Given the description of an element on the screen output the (x, y) to click on. 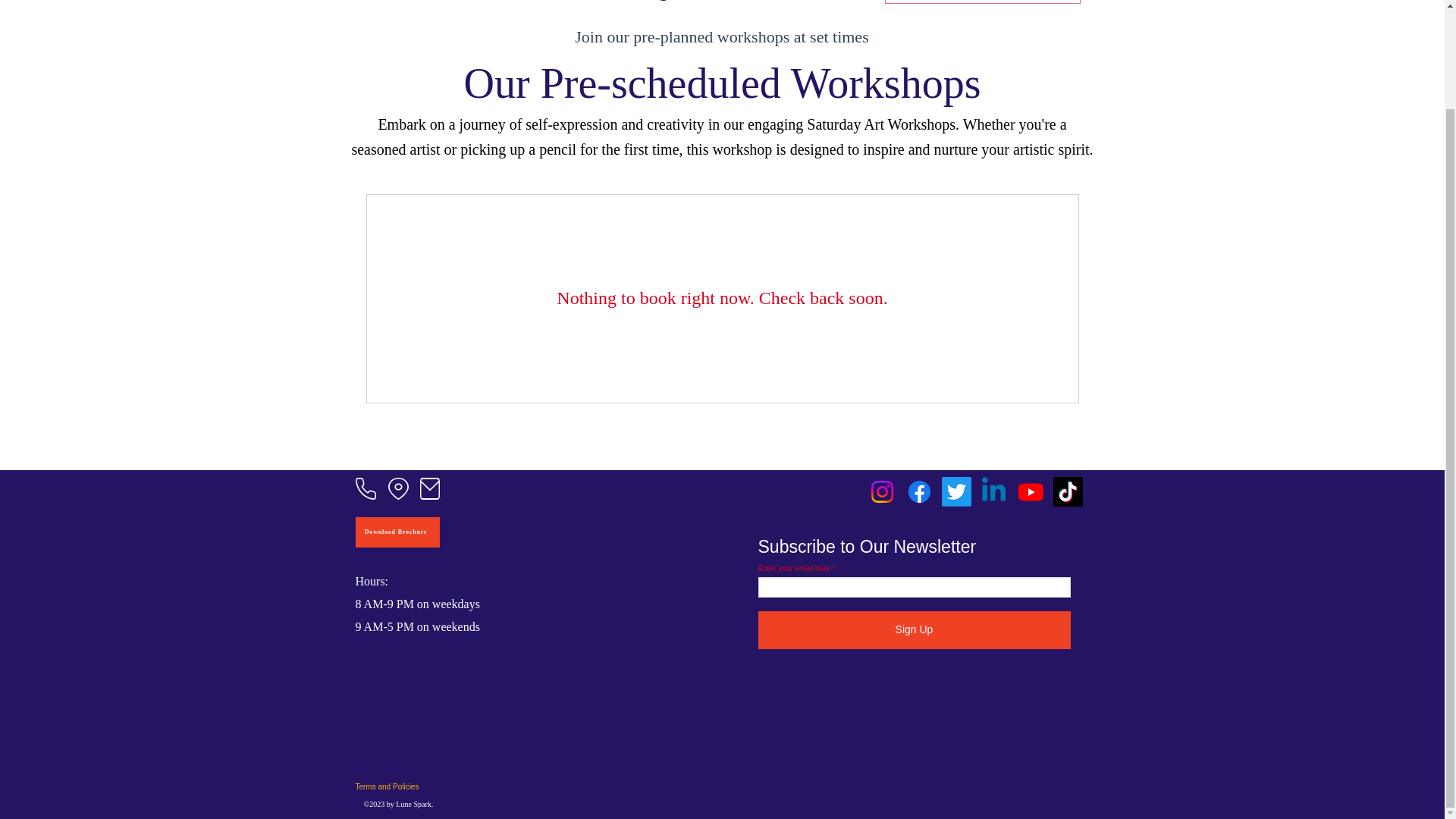
Download Brochure (397, 531)
Sign Up (914, 629)
Terms and Policies (406, 786)
